Given the description of an element on the screen output the (x, y) to click on. 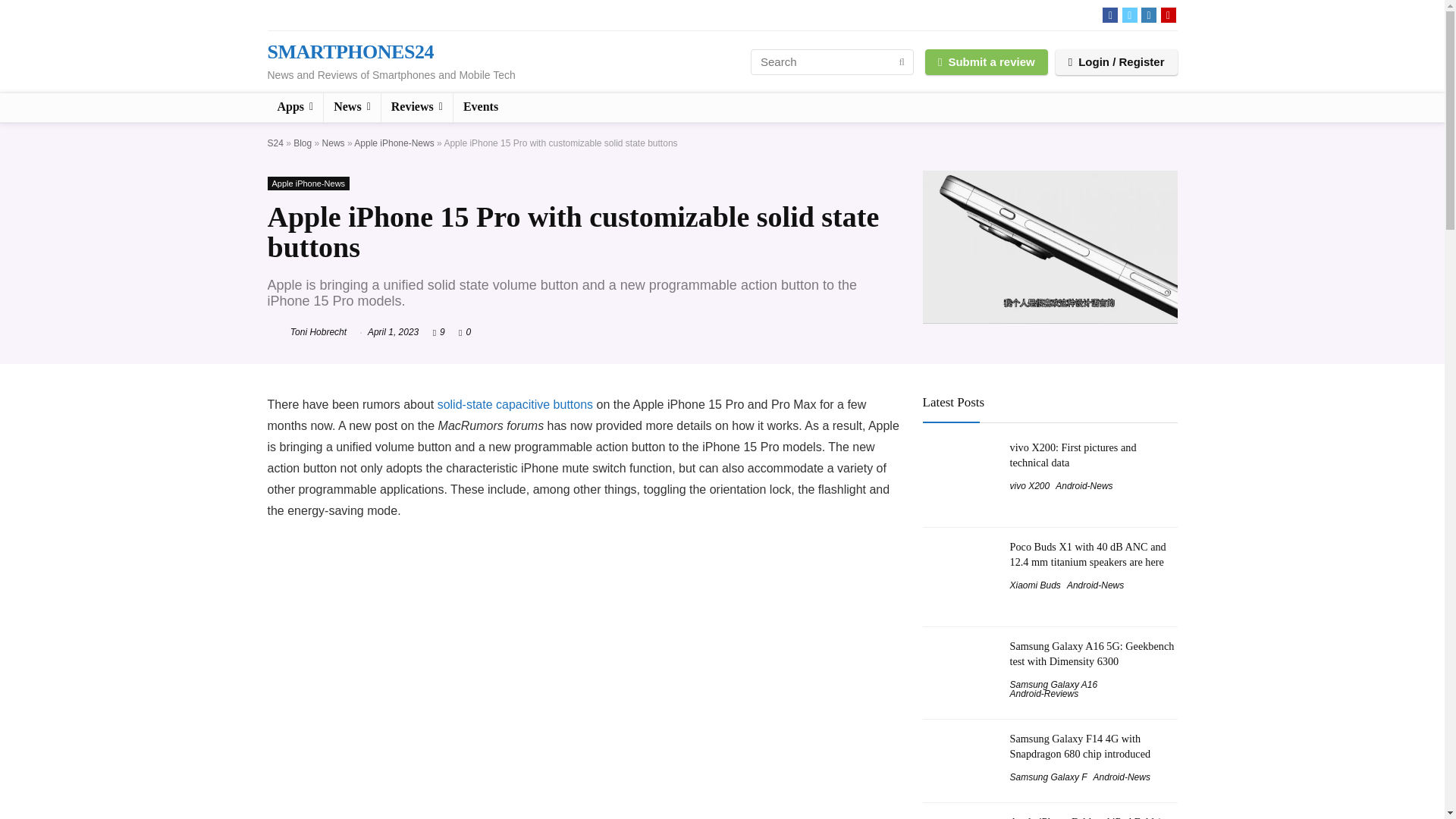
Youtube (1167, 14)
Facebook (1110, 14)
Apple iPhone-News (393, 143)
News (351, 107)
Apps (294, 107)
Blog (302, 143)
News (333, 143)
S24 (274, 143)
solid-state capacitive buttons (515, 404)
SMARTPHONES24 (349, 51)
